Given the description of an element on the screen output the (x, y) to click on. 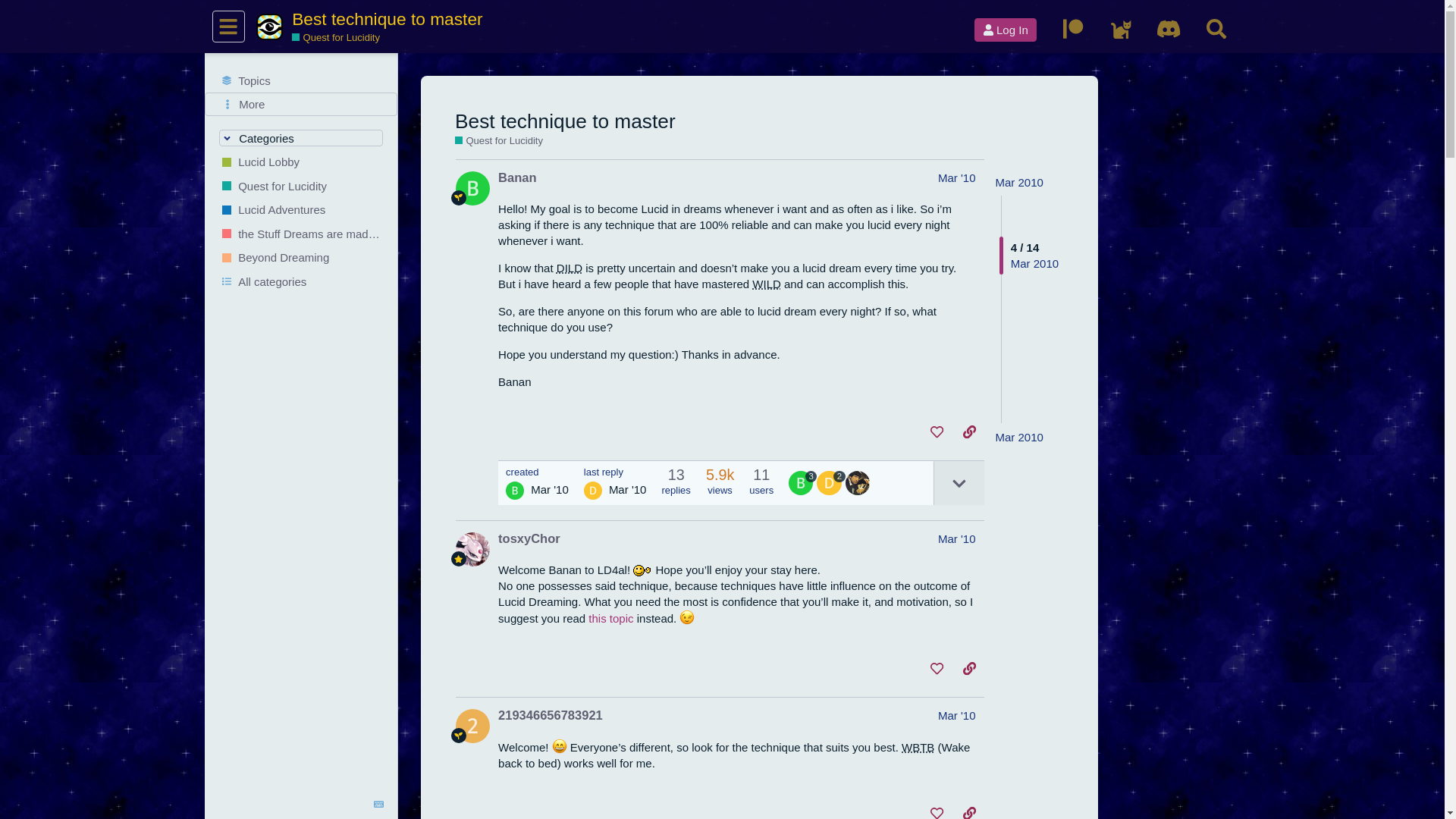
Sidebar (228, 26)
Quest for Lucidity (301, 185)
Topics (301, 79)
Every subject dealing with how to become lucid. (301, 185)
Quest for Lucidity (336, 37)
Categories (301, 137)
Everything to do while lucid is discussed here. (301, 209)
All topics (301, 79)
Quest for Lucidity (498, 141)
Keyboard Shortcuts (378, 805)
